Given the description of an element on the screen output the (x, y) to click on. 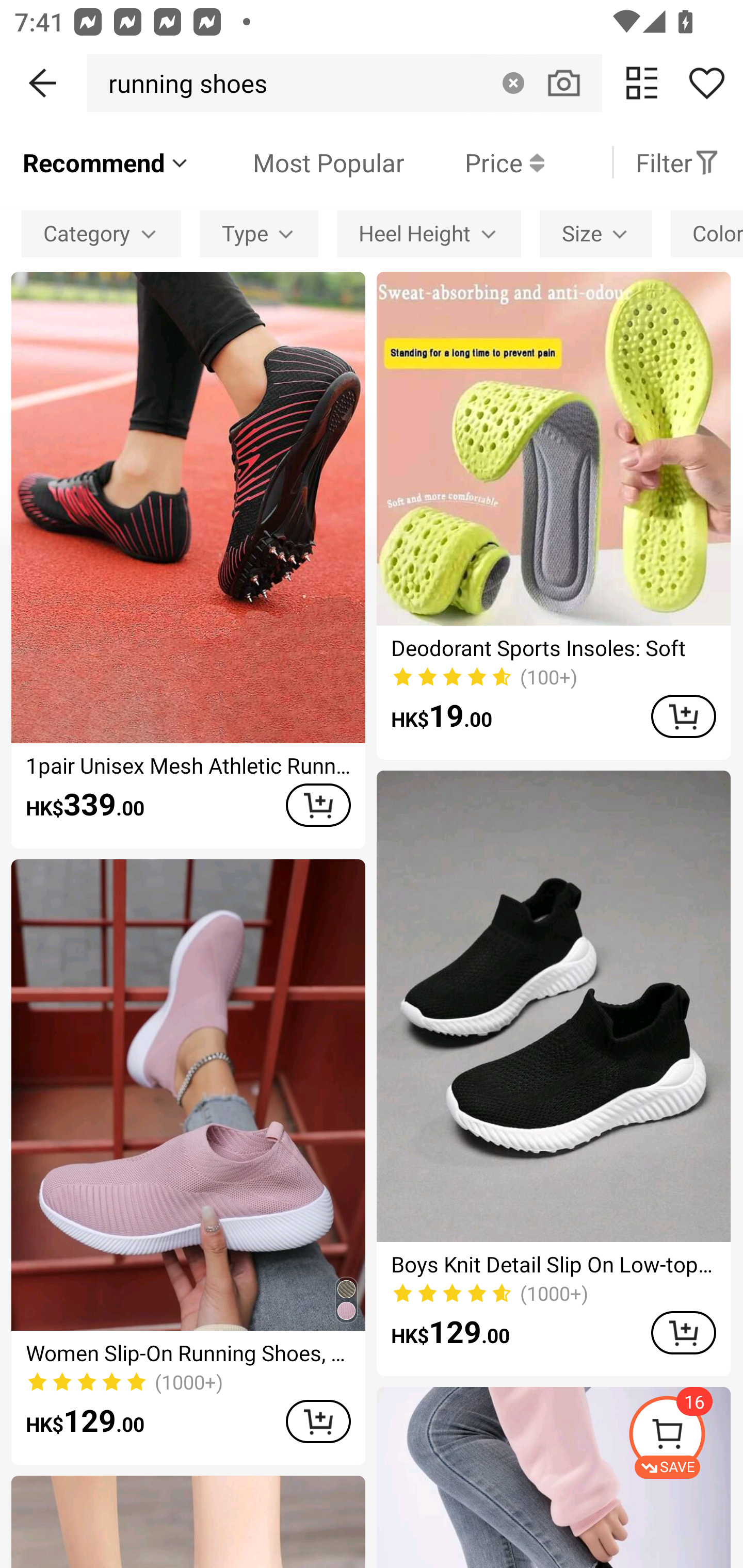
running shoes Clear (343, 82)
running shoes (181, 82)
Clear (513, 82)
change view (641, 82)
Share (706, 82)
Recommend (106, 162)
Most Popular (297, 162)
Price (474, 162)
Filter (677, 162)
Category (101, 233)
Type (258, 233)
Heel Height (428, 233)
Size (595, 233)
Color (706, 233)
ADD TO CART (683, 716)
ADD TO CART (318, 805)
ADD TO CART (683, 1332)
SAVE (685, 1436)
ADD TO CART (318, 1421)
